Given the description of an element on the screen output the (x, y) to click on. 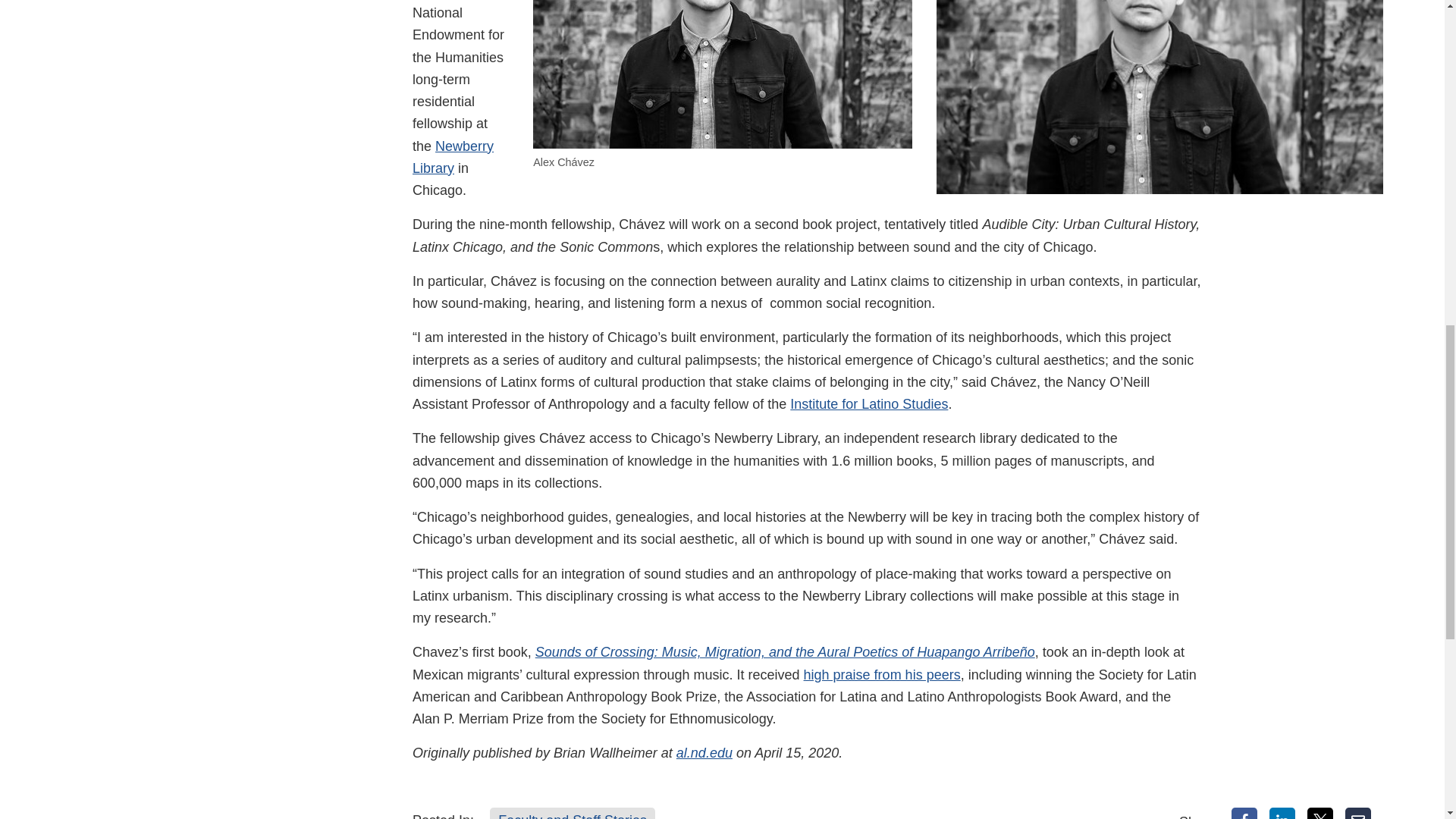
Email (1358, 813)
Institute for Latino Studies (868, 403)
Facebook (1244, 813)
Newberry Library (452, 157)
LinkedIn (1282, 813)
